Given the description of an element on the screen output the (x, y) to click on. 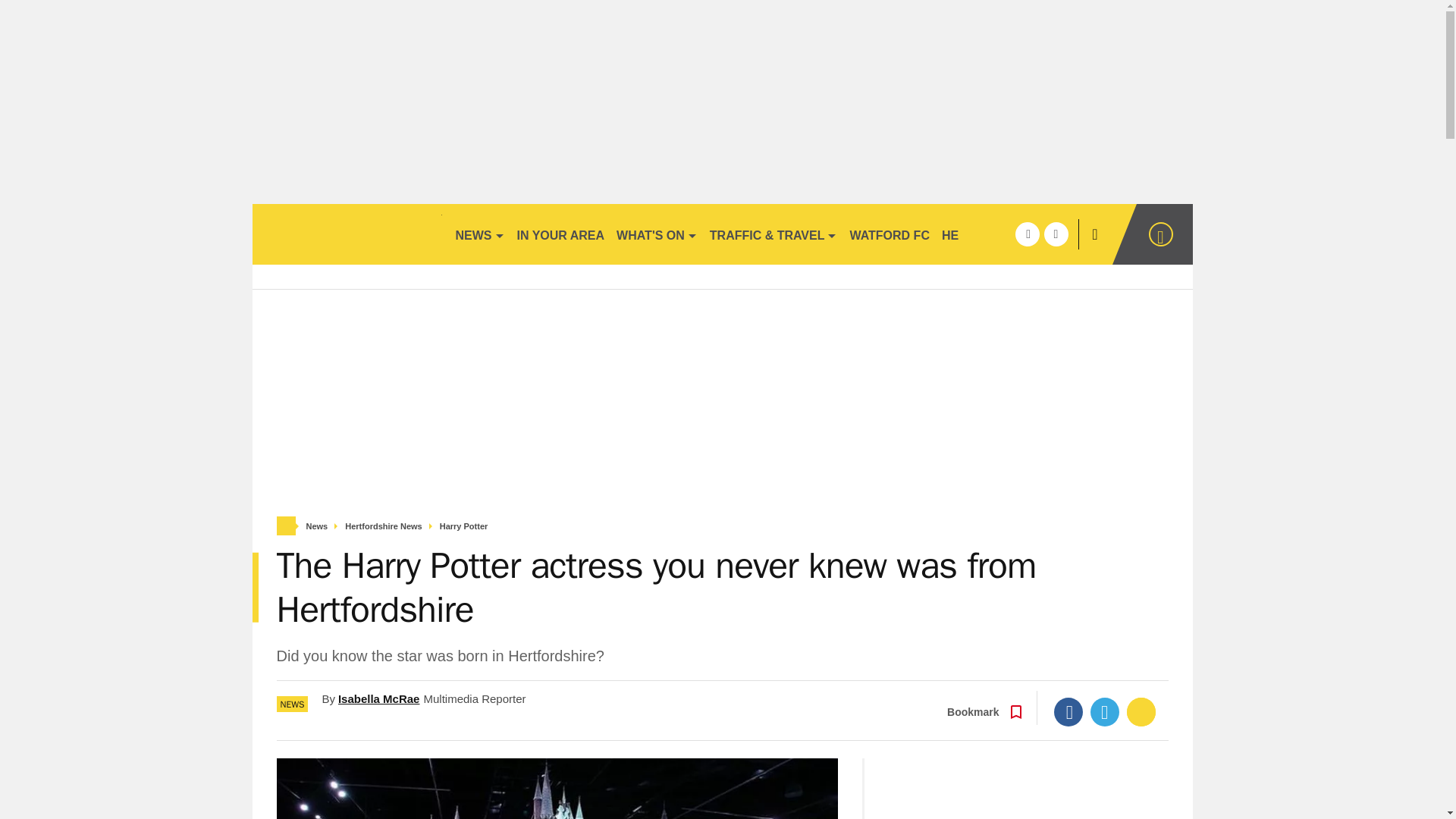
HEMEL HEMPSTEAD (1003, 233)
WATFORD FC (888, 233)
Twitter (1104, 711)
hertfordshiremercury (346, 233)
WHAT'S ON (656, 233)
IN YOUR AREA (561, 233)
facebook (1026, 233)
NEWS (479, 233)
Facebook (1068, 711)
twitter (1055, 233)
